Given the description of an element on the screen output the (x, y) to click on. 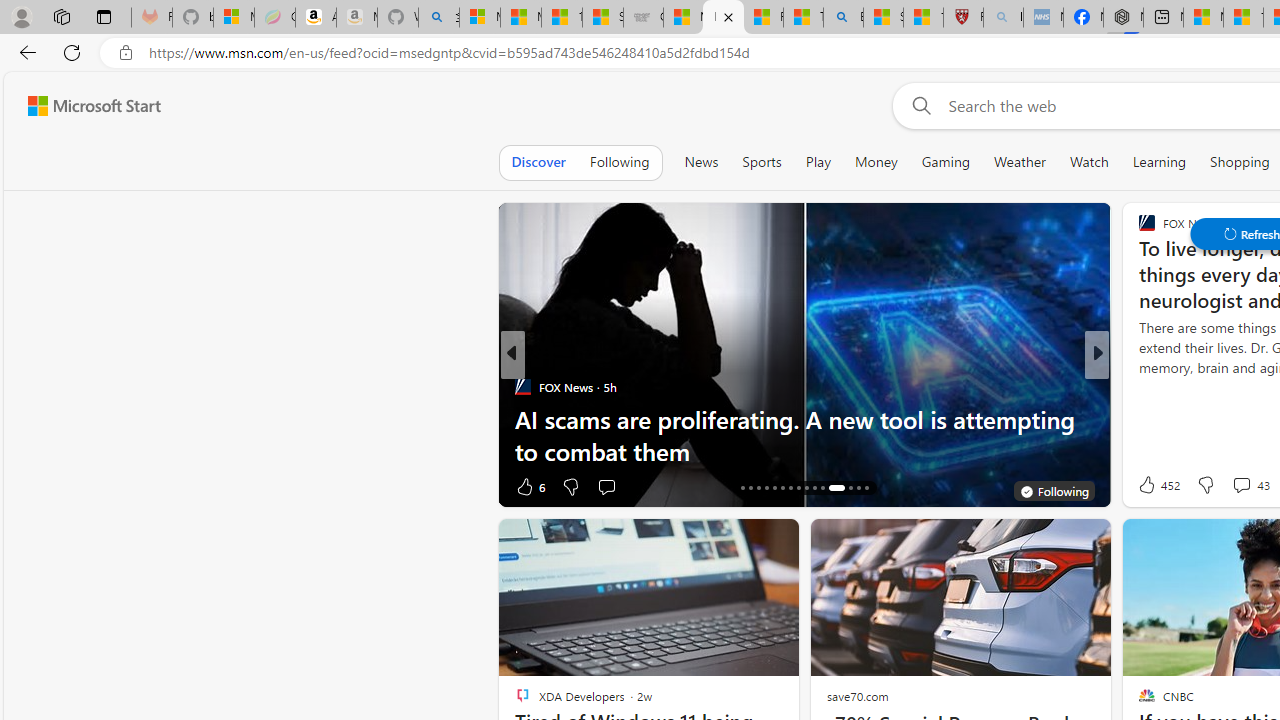
View comments 197 Comment (1247, 486)
323 Like (1151, 486)
AutomationID: tab-24 (806, 487)
View comments 7 Comment (1241, 486)
